Given the description of an element on the screen output the (x, y) to click on. 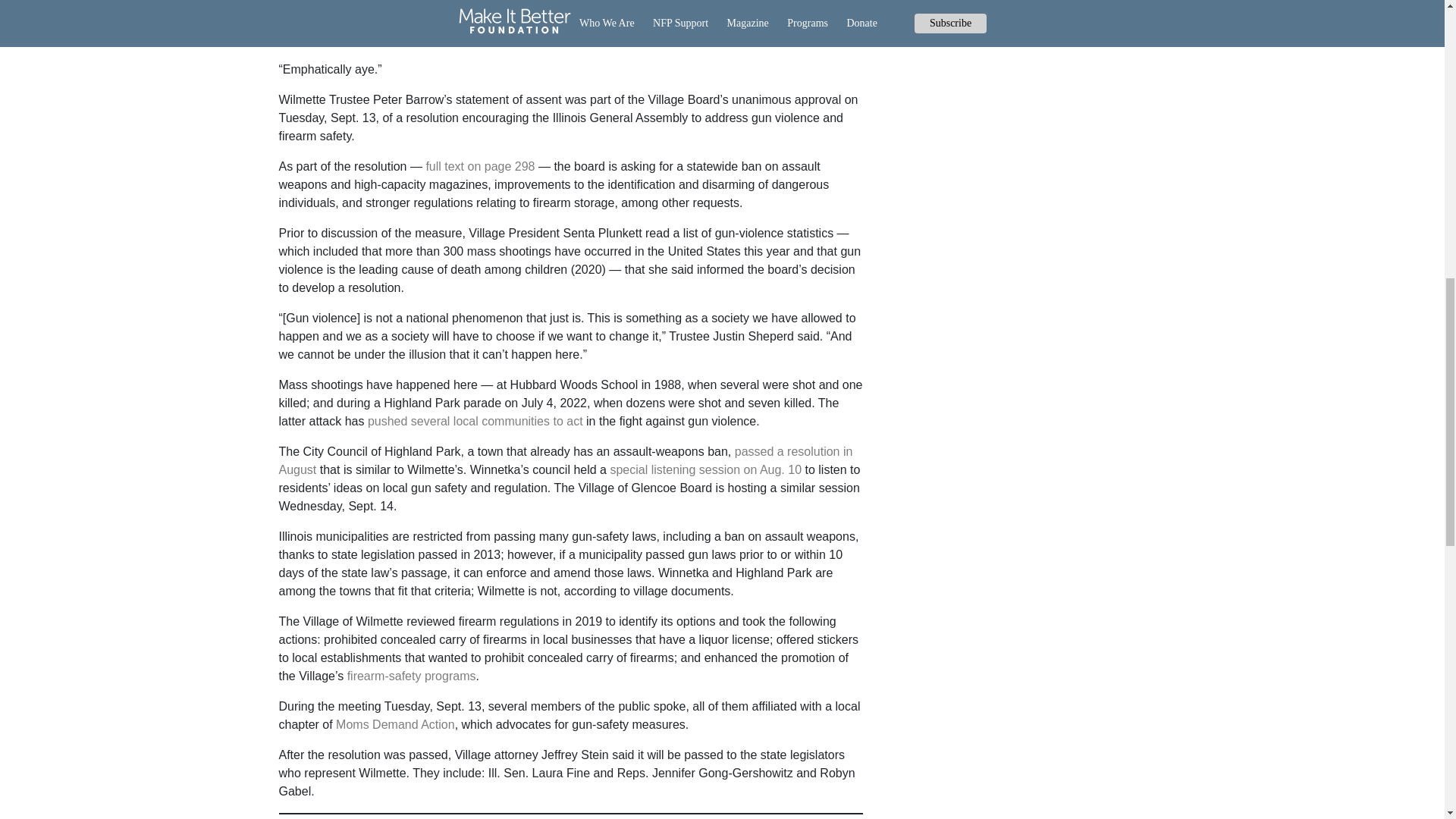
special listening session on Aug. 10 (706, 469)
passed a resolution in August (566, 460)
pushed several local communities to act (475, 420)
Advertisement (1037, 135)
full text on page 298 (479, 165)
